Given the description of an element on the screen output the (x, y) to click on. 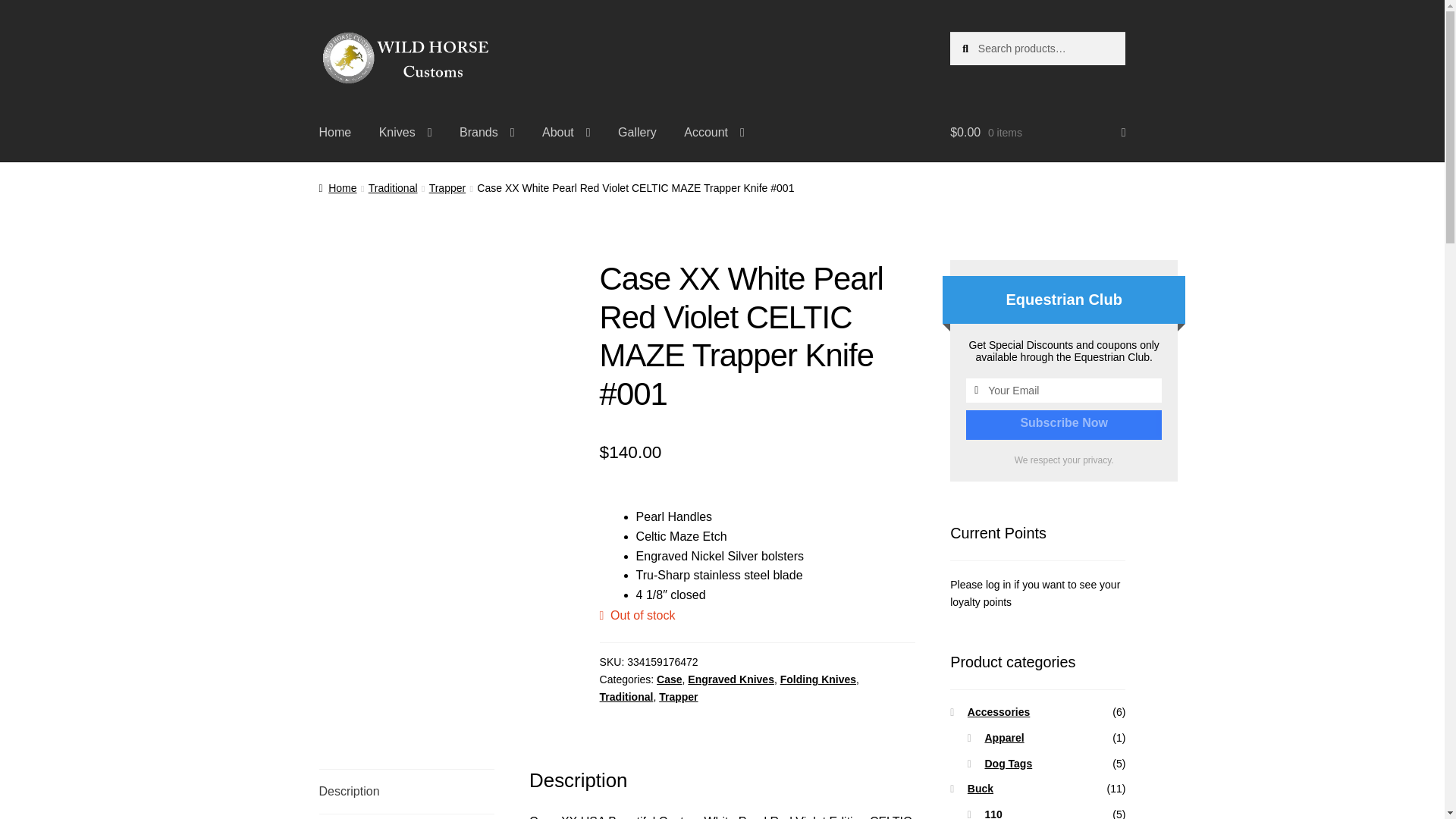
Account (714, 132)
Gallery (636, 132)
About (565, 132)
Subscribe Now (1063, 422)
Home (335, 132)
Knives (405, 132)
Brands (486, 132)
View your shopping cart (1037, 132)
